Given the description of an element on the screen output the (x, y) to click on. 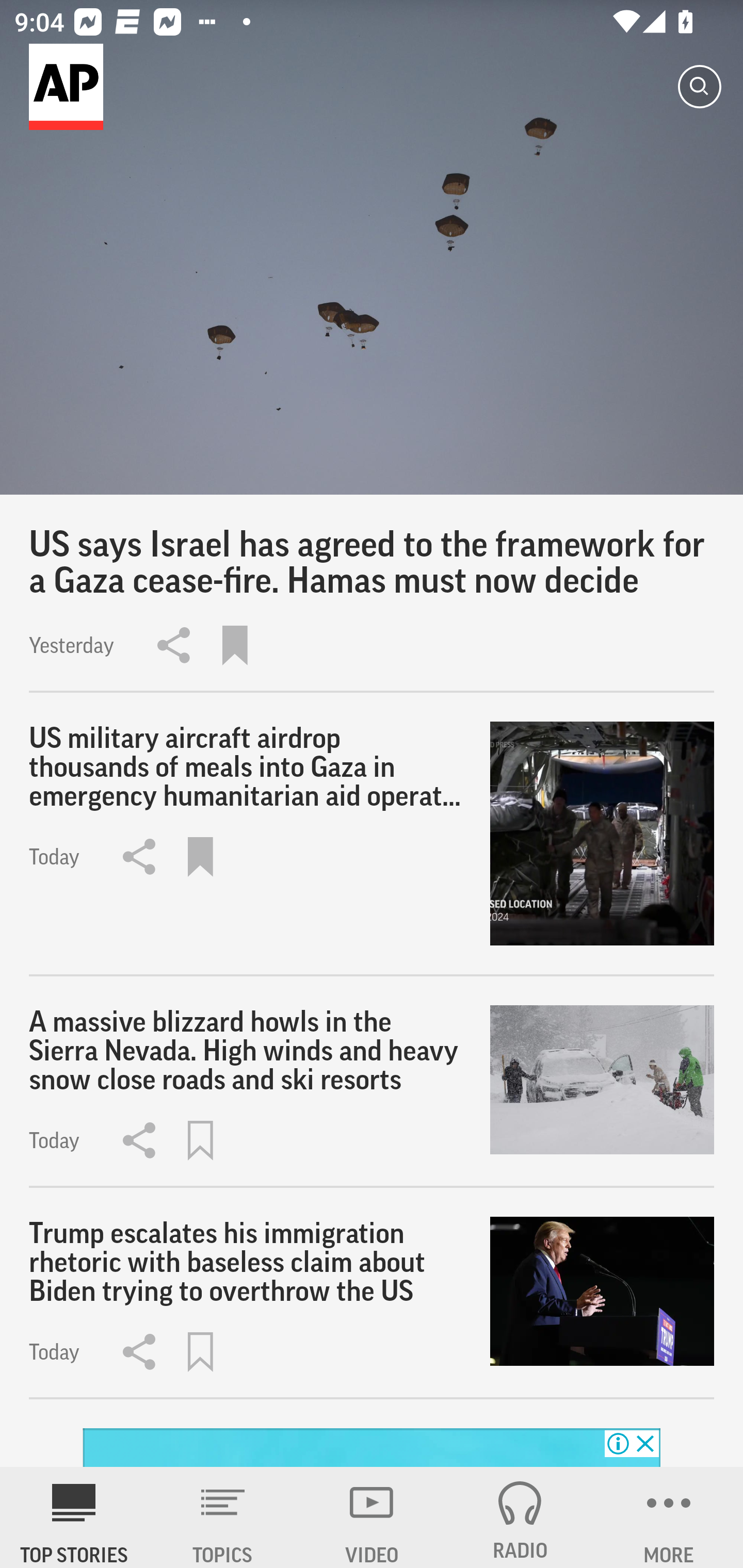
AP News TOP STORIES (74, 1517)
TOPICS (222, 1517)
VIDEO (371, 1517)
RADIO (519, 1517)
MORE (668, 1517)
